Given the description of an element on the screen output the (x, y) to click on. 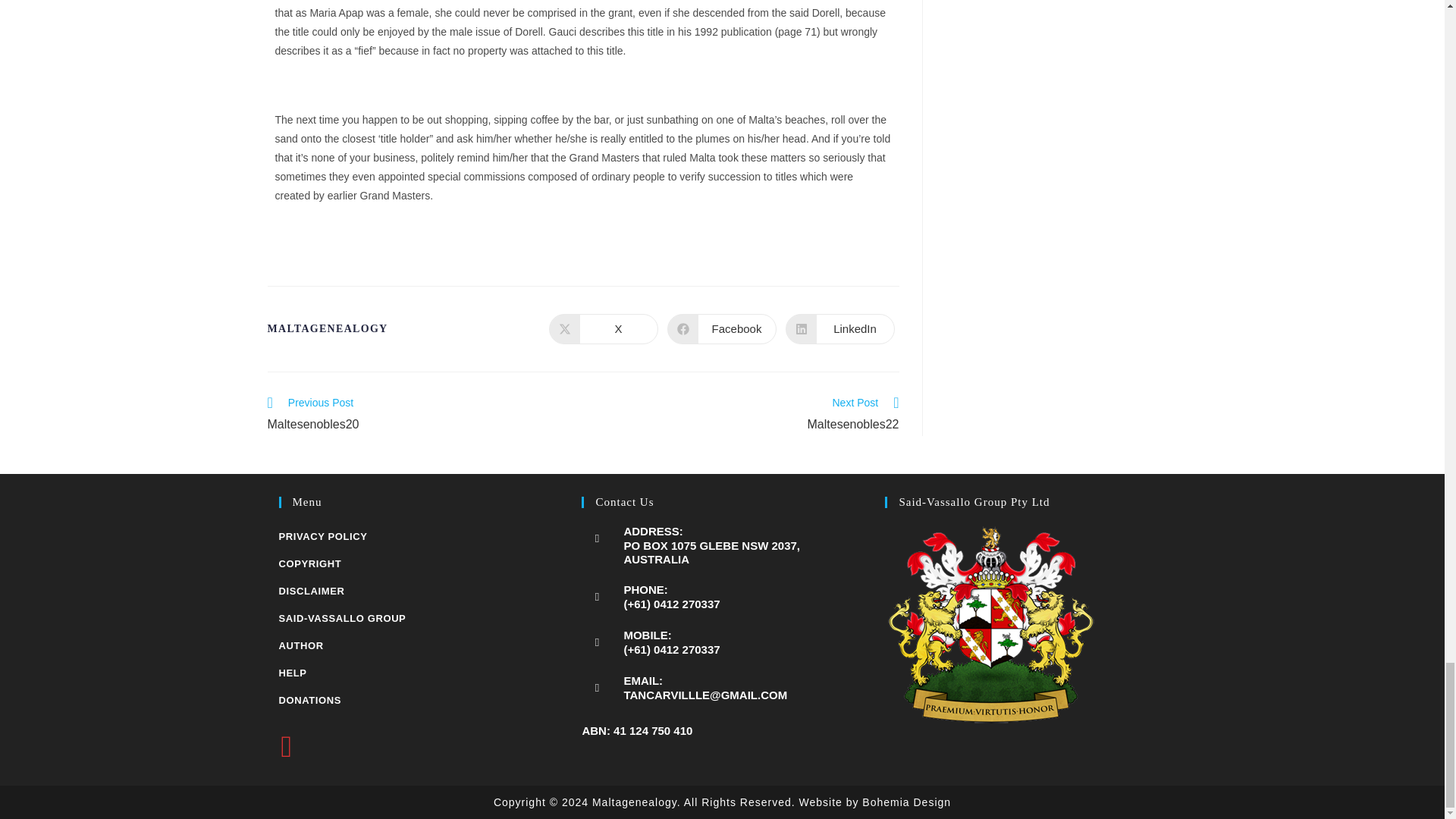
Bohemia Design - Web Design Brisbane (873, 802)
X (603, 328)
